Given the description of an element on the screen output the (x, y) to click on. 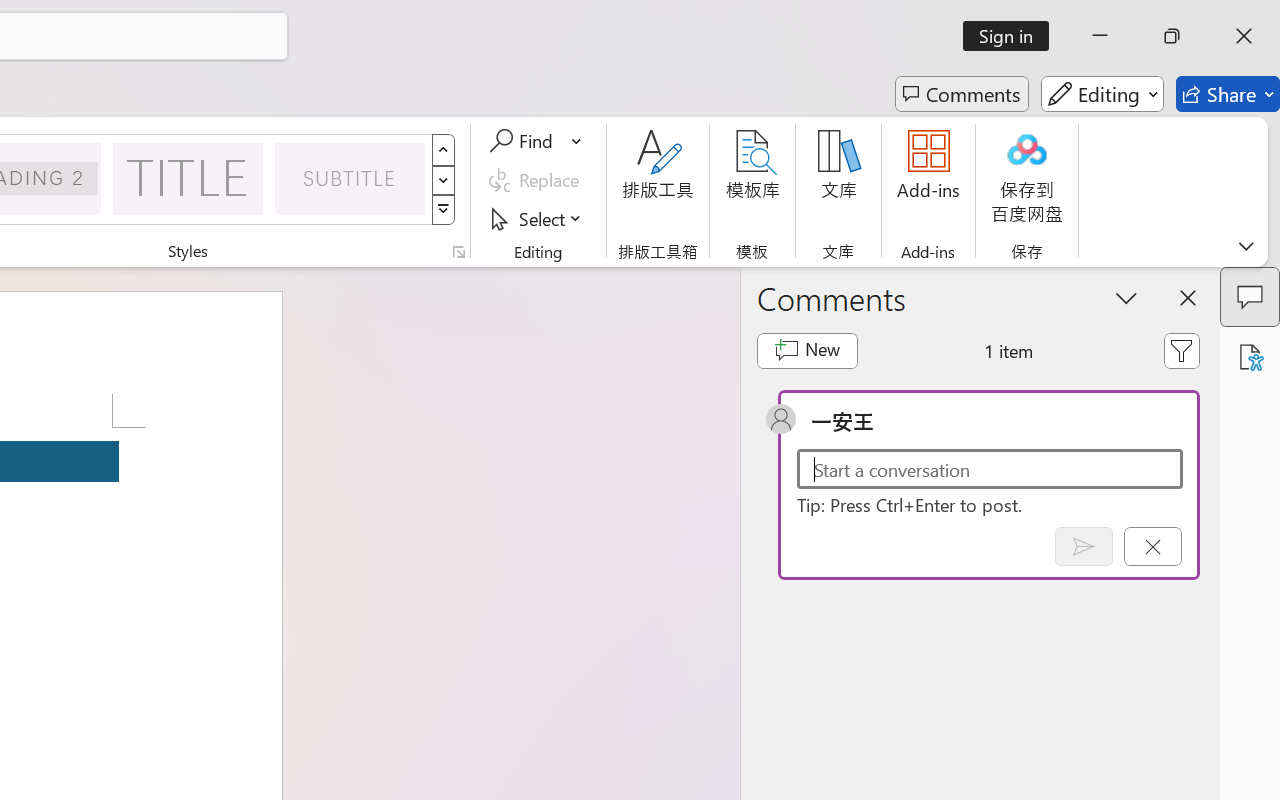
New comment (806, 350)
Sign in (1012, 35)
Subtitle (349, 178)
Filter (1181, 350)
Cancel (1152, 546)
Editing (1101, 94)
Post comment (Ctrl + Enter) (1083, 546)
